Given the description of an element on the screen output the (x, y) to click on. 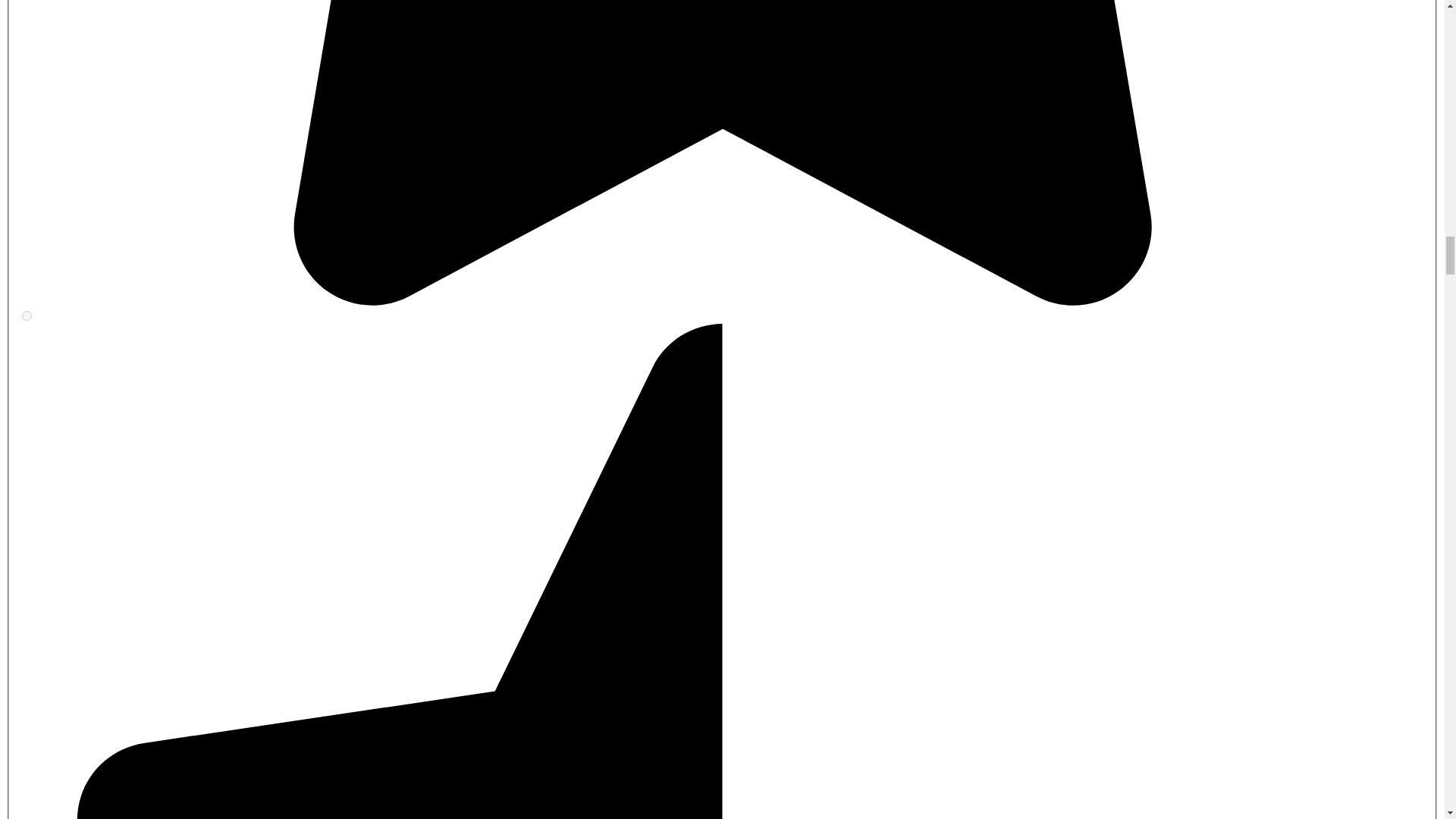
3.5 (26, 316)
